Given the description of an element on the screen output the (x, y) to click on. 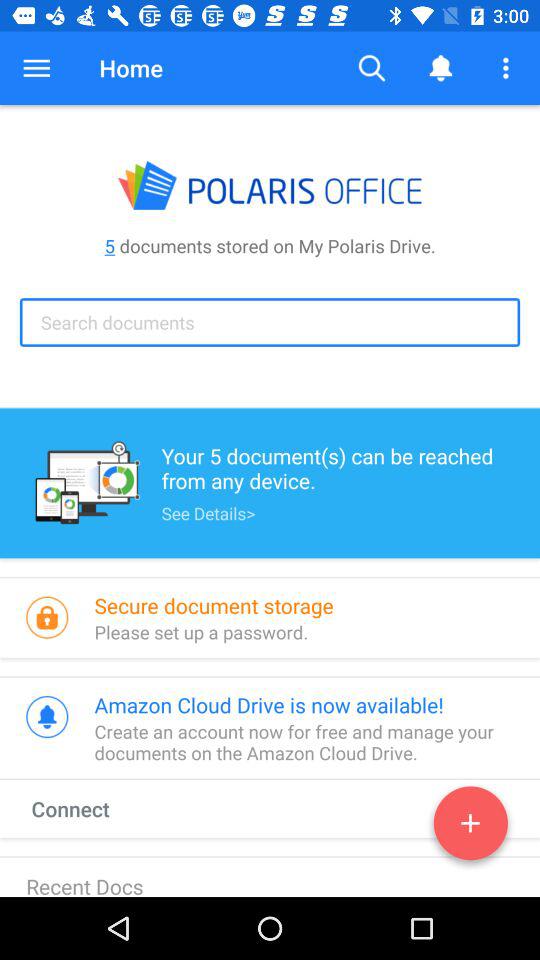
choose the button to the left of home (36, 68)
